Given the description of an element on the screen output the (x, y) to click on. 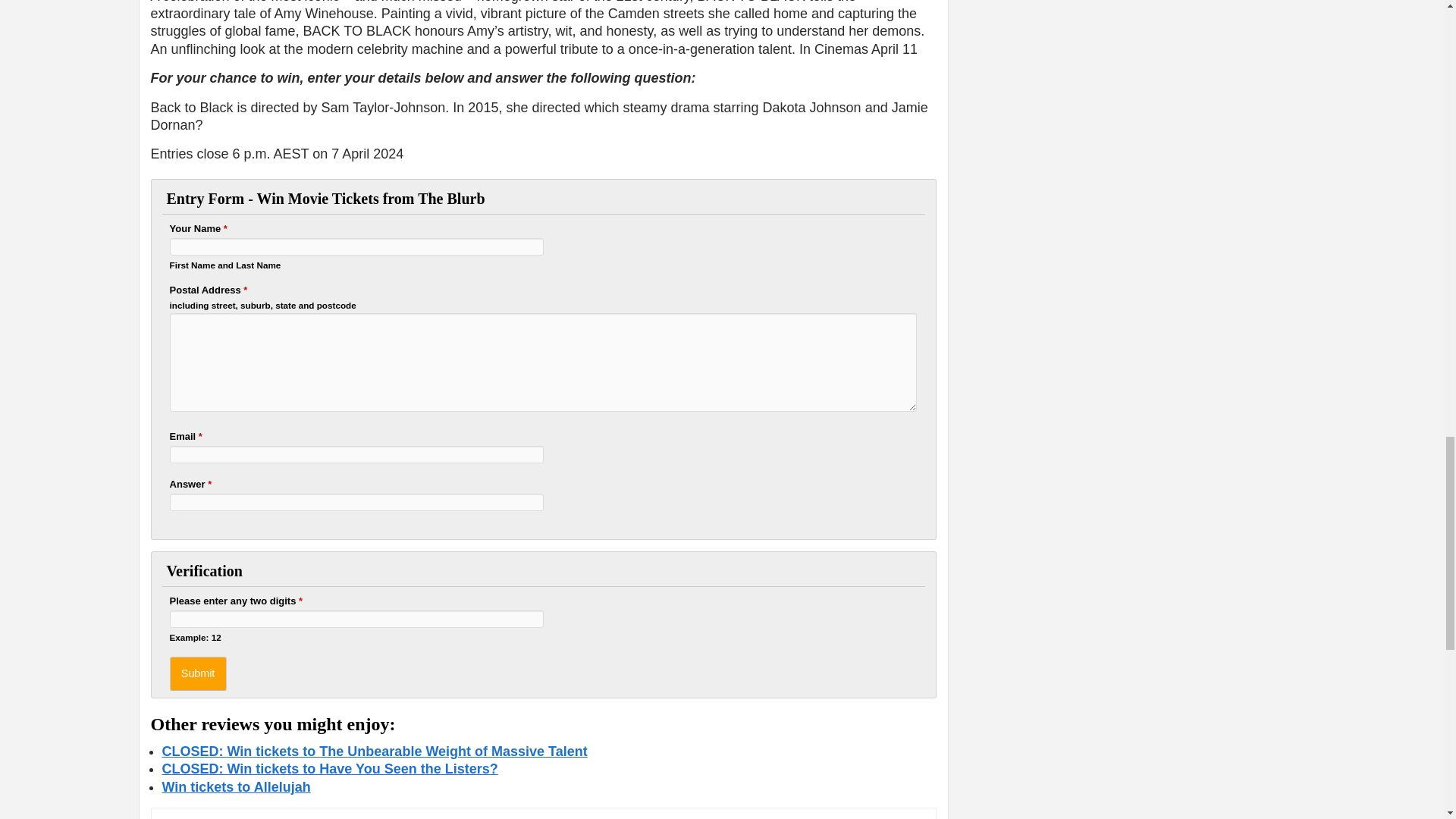
Win tickets to Allelujah (236, 786)
CLOSED: Win tickets to Have You Seen the Listers? (329, 768)
Win tickets to Allelujah (236, 786)
Submit (198, 673)
Submit (198, 673)
CLOSED: Win tickets to Have You Seen the Listers? (329, 768)
